Given the description of an element on the screen output the (x, y) to click on. 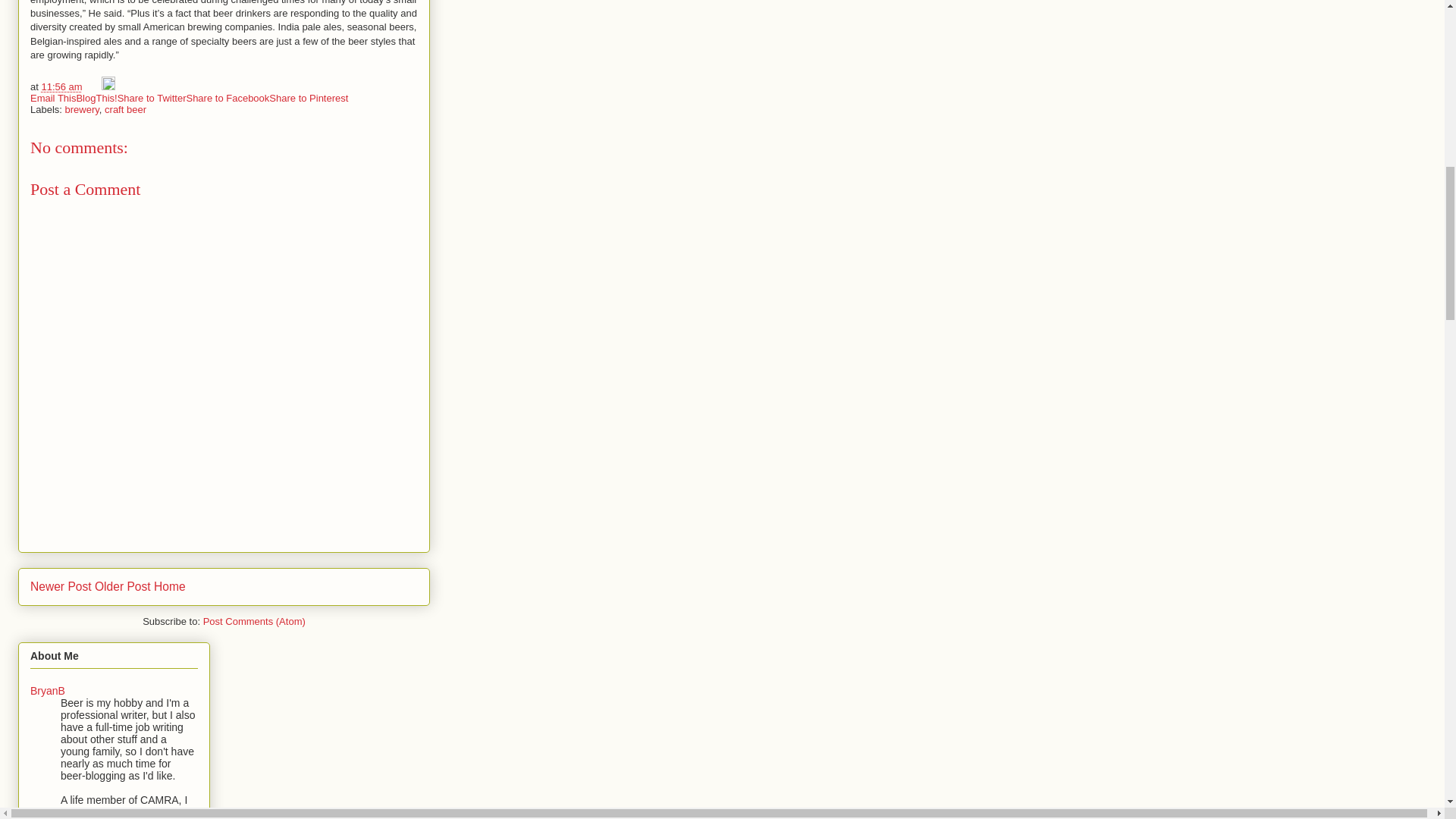
Email This (52, 98)
Share to Twitter (151, 98)
Edit Post (108, 86)
permanent link (60, 86)
Share to Pinterest (308, 98)
Share to Facebook (227, 98)
11:56 am (60, 86)
BlogThis! (95, 98)
Newer Post (60, 585)
brewery (82, 109)
Older Post (122, 585)
Newer Post (60, 585)
BryanB (47, 690)
BlogThis! (95, 98)
Email Post (92, 86)
